Given the description of an element on the screen output the (x, y) to click on. 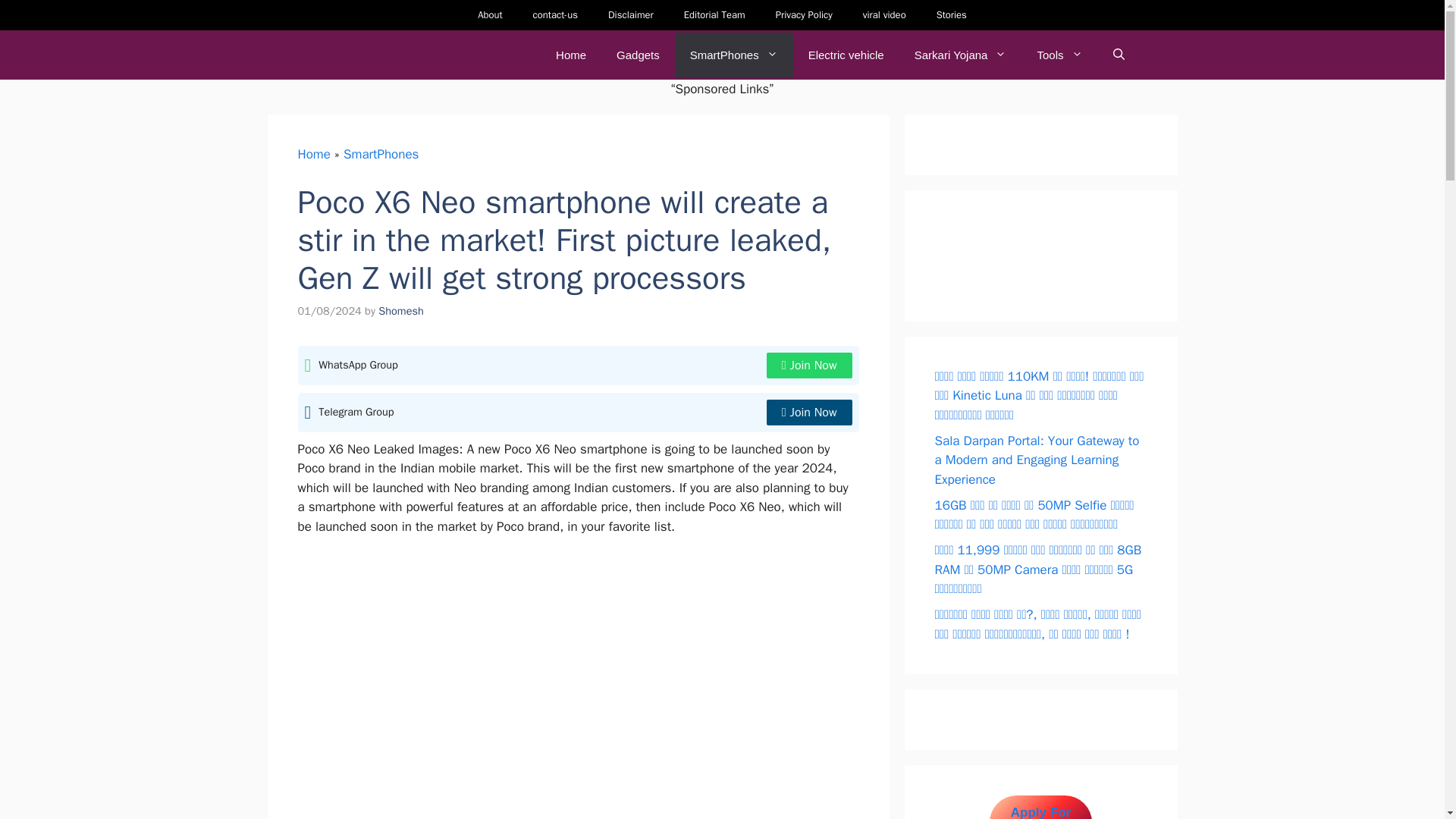
Home (570, 53)
Sarkari Yojana (960, 53)
Editorial Team (714, 15)
View all posts by Shomesh (400, 310)
Disclaimer (630, 15)
Gadget Update (377, 54)
Home (313, 153)
viral video (884, 15)
Gadgets (638, 53)
Shomesh (400, 310)
